Given the description of an element on the screen output the (x, y) to click on. 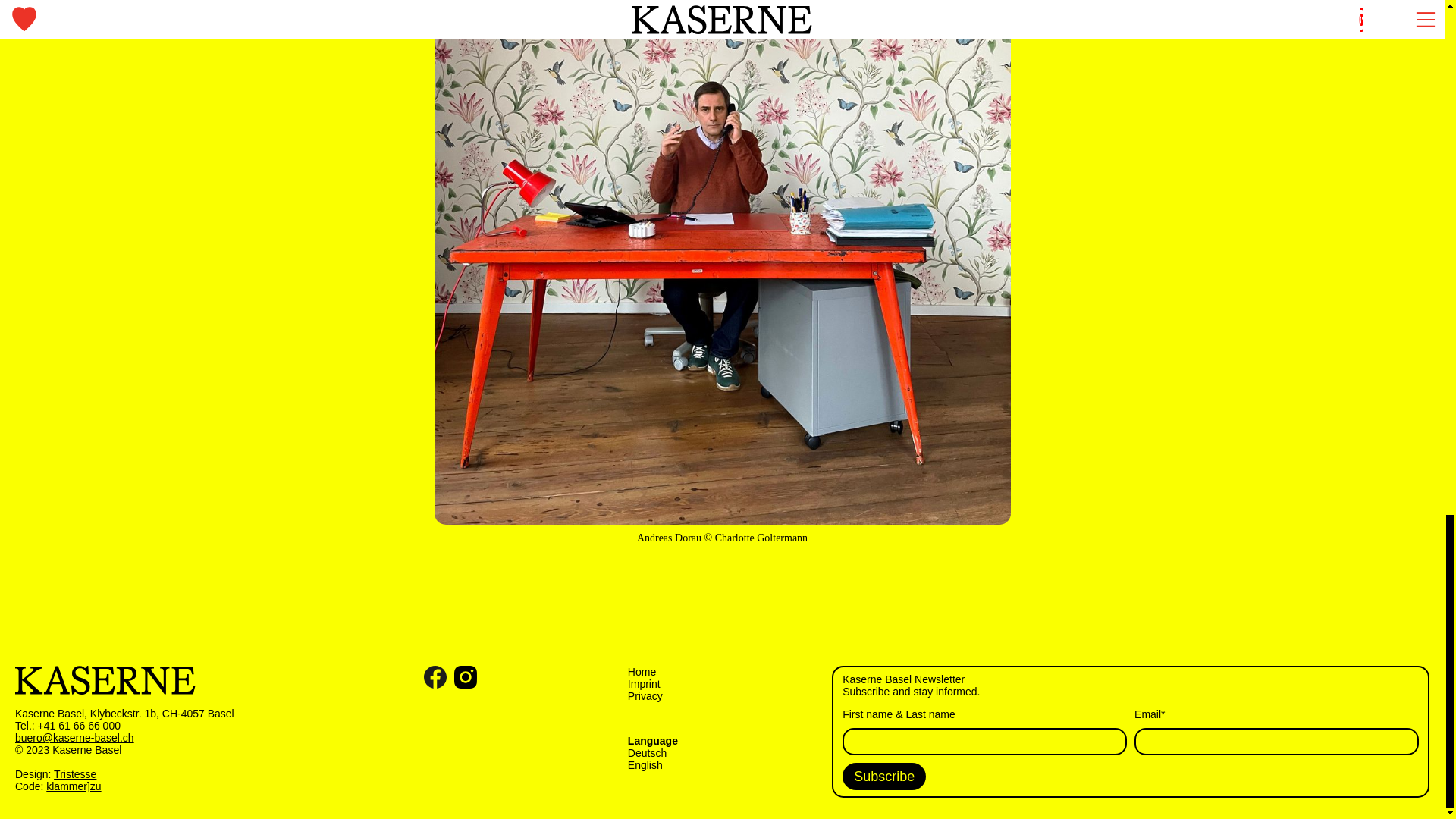
Tristesse (74, 774)
Imprint (644, 684)
Home (641, 671)
Subscribe (884, 776)
Deutsch (646, 752)
Privacy (644, 695)
English (644, 765)
